Given the description of an element on the screen output the (x, y) to click on. 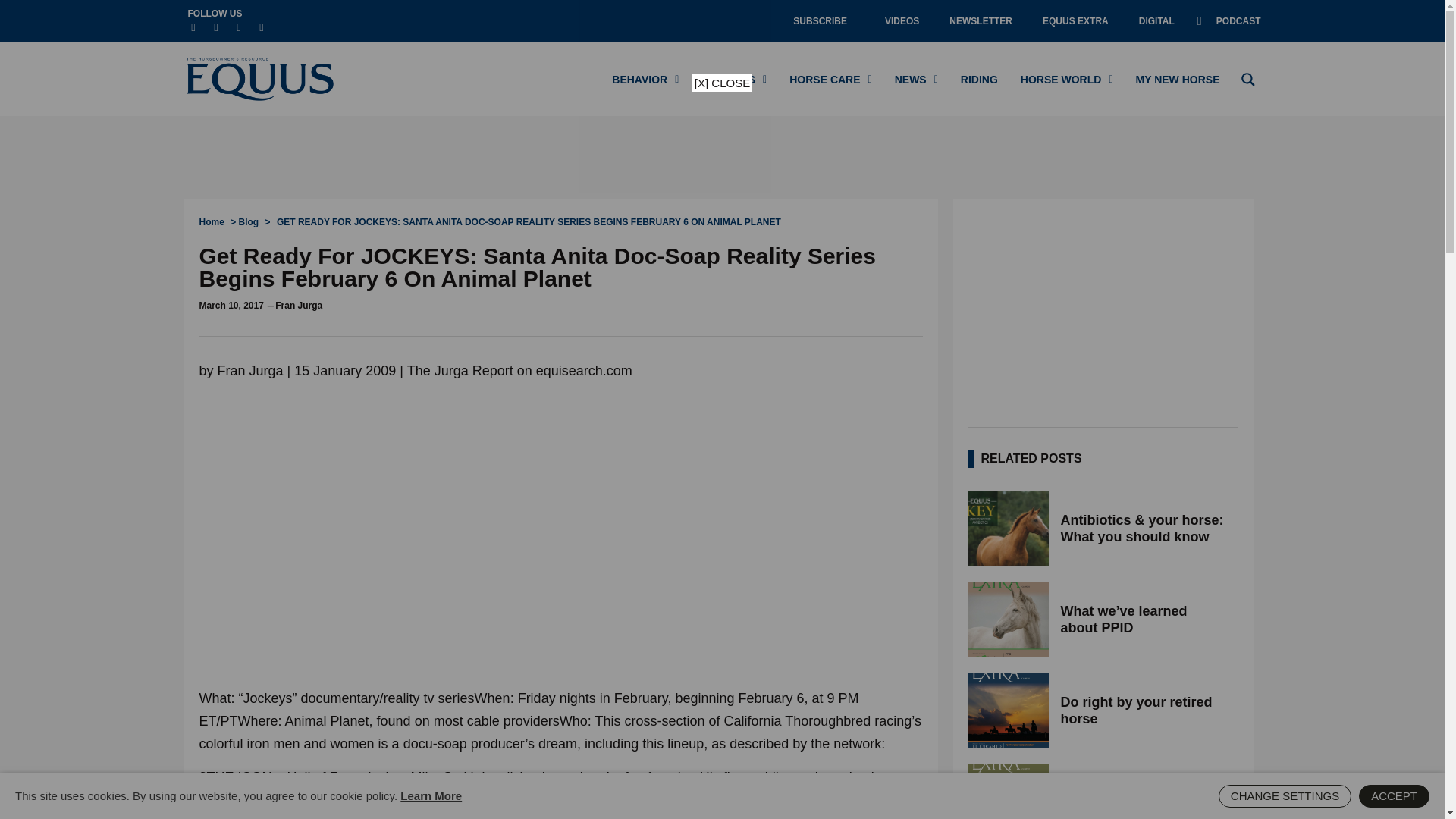
DISEASES (734, 79)
HORSE CARE (829, 79)
SUBSCRIBE (823, 21)
Do right by your retired horse (1008, 710)
NEWSLETTER (980, 21)
BEHAVIOR (644, 79)
DIGITAL (1156, 21)
EQUUS EXTRA (1075, 21)
NEWS (916, 79)
VIDEOS (901, 21)
3rd party ad content (721, 157)
PODCAST (1228, 20)
3rd party ad content (1103, 309)
Do right by your retired horse (1143, 710)
